Given the description of an element on the screen output the (x, y) to click on. 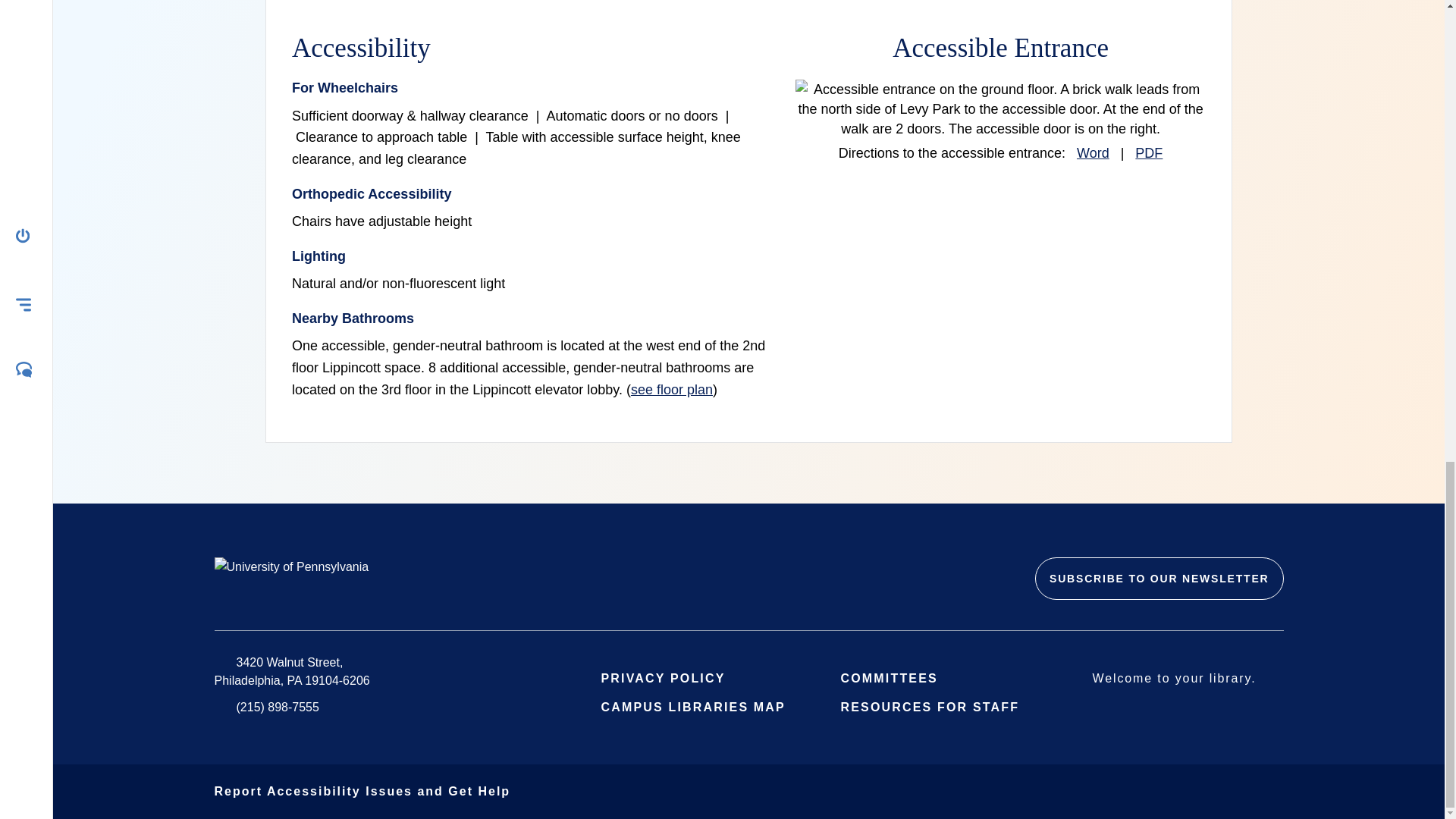
Link to Privacy Policy (672, 677)
Link to Report Accessibility Issues and Get Help (362, 790)
Link to Resources for Staff (939, 707)
Link to Campus libraries map (702, 707)
Link to Committees (899, 677)
